Given the description of an element on the screen output the (x, y) to click on. 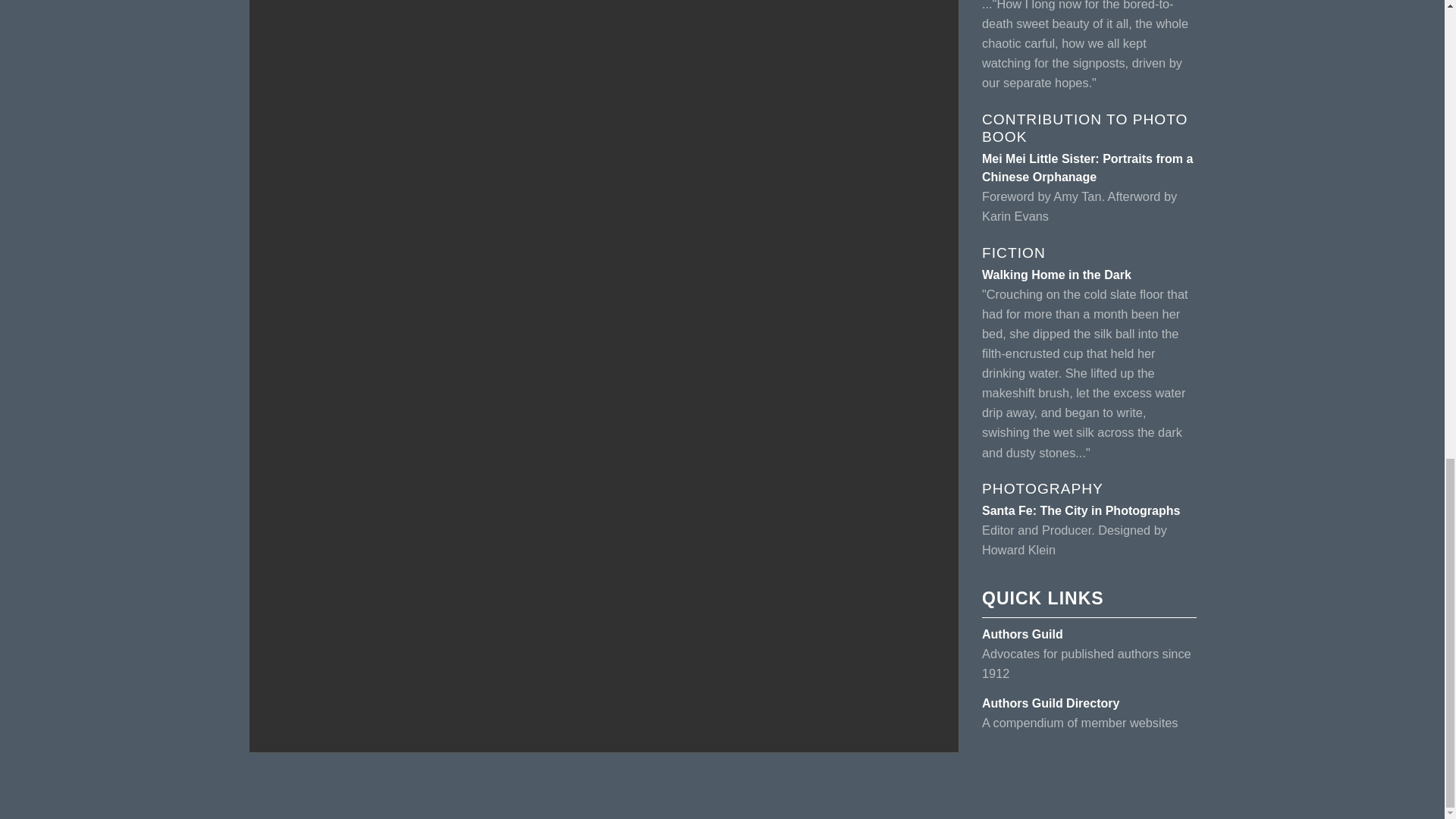
Mei Mei Little Sister: Portraits from a Chinese Orphanage (1086, 167)
Walking Home in the Dark (1056, 274)
Santa Fe: The City in Photographs (1080, 510)
Authors Guild Directory (1050, 703)
Authors Guild (1021, 634)
